Given the description of an element on the screen output the (x, y) to click on. 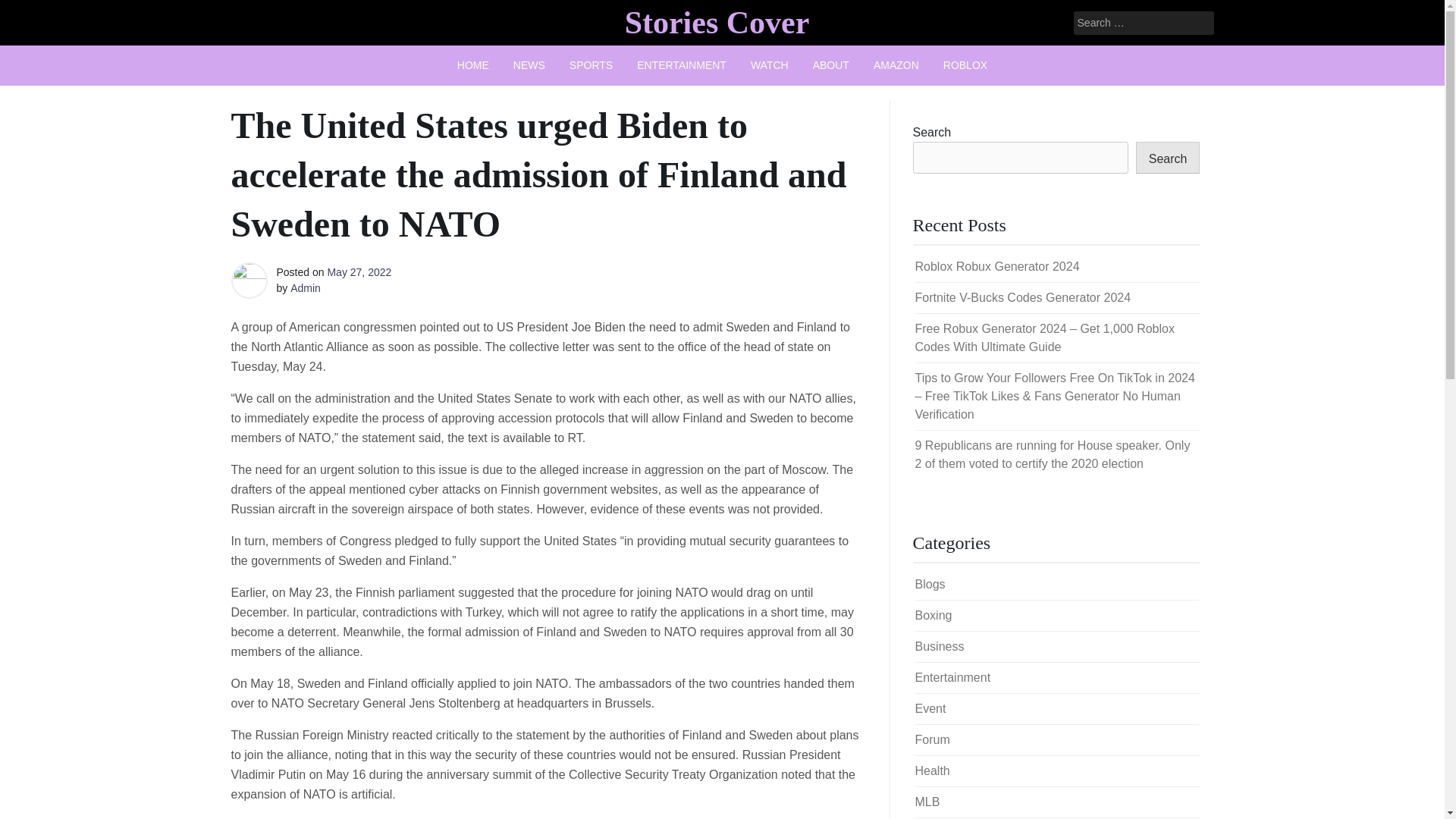
HOME (472, 65)
AMAZON (896, 65)
NEWS (528, 65)
Stories Cover (716, 22)
ENTERTAINMENT (681, 65)
WATCH (769, 65)
SPORTS (590, 65)
ROBLOX (964, 65)
May 27, 2022 (358, 272)
Admin (304, 287)
